Given the description of an element on the screen output the (x, y) to click on. 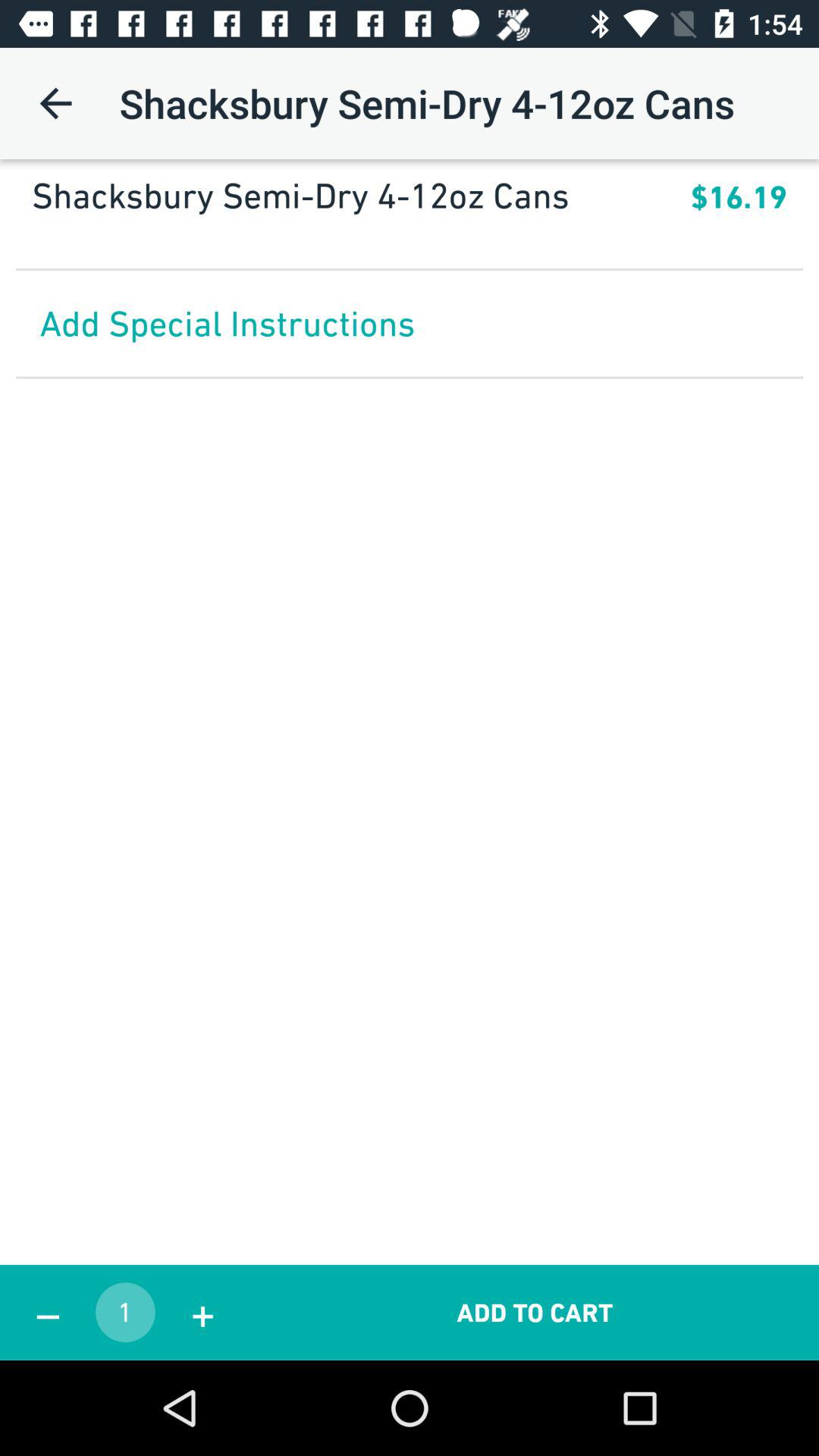
tap icon to the left of the 1 (47, 1312)
